Given the description of an element on the screen output the (x, y) to click on. 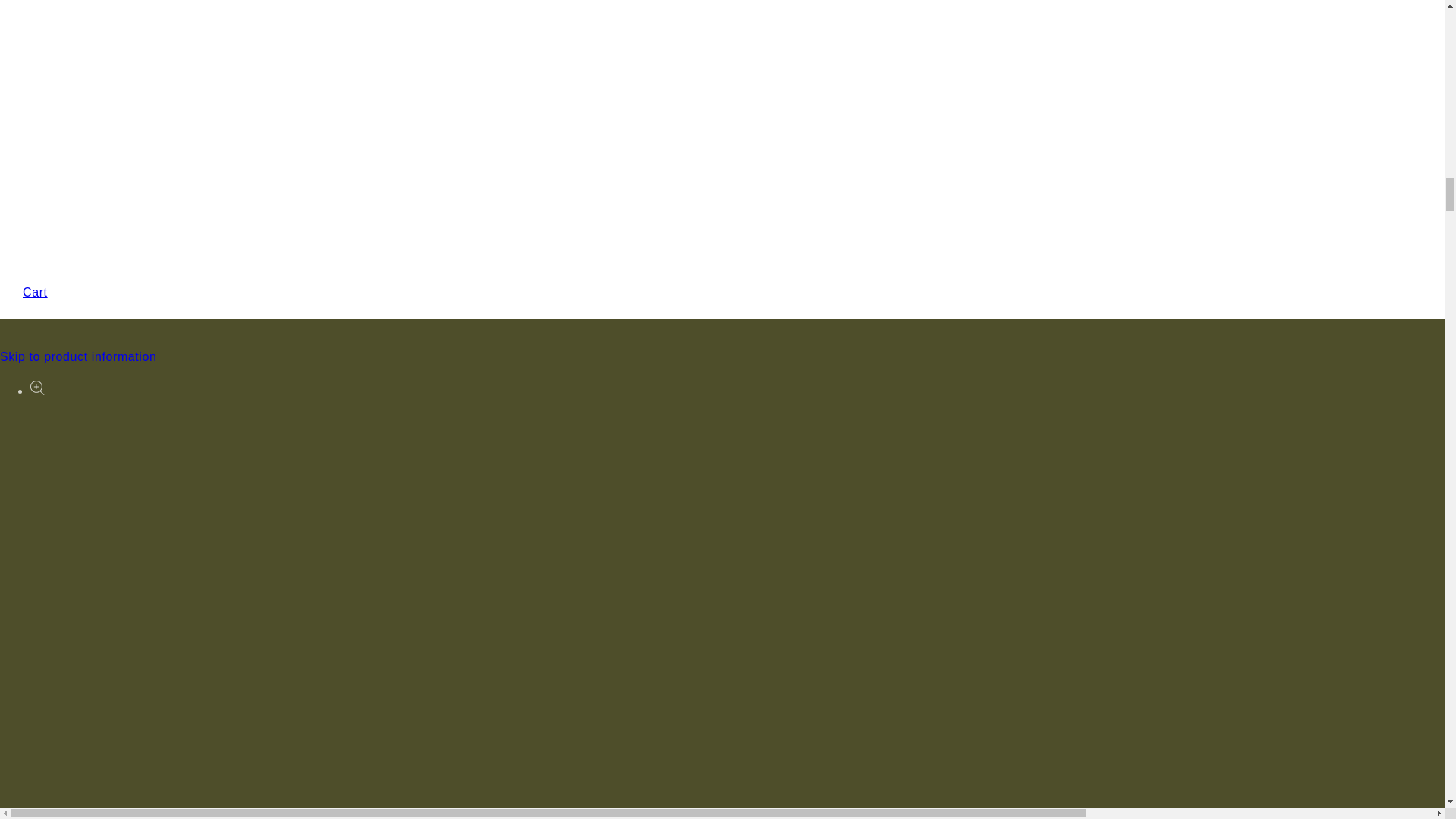
Cart (722, 281)
Skip to product information (78, 356)
